Given the description of an element on the screen output the (x, y) to click on. 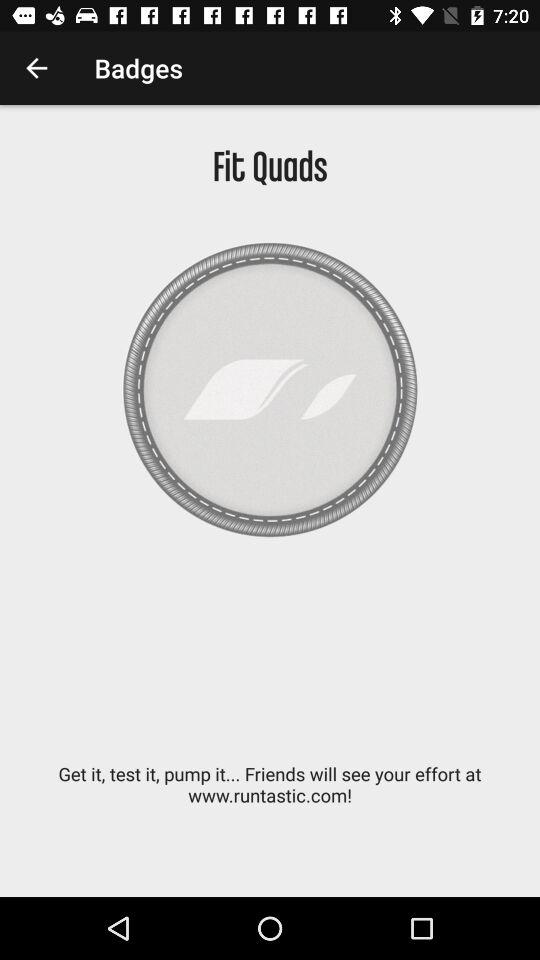
launch get it test item (270, 795)
